Given the description of an element on the screen output the (x, y) to click on. 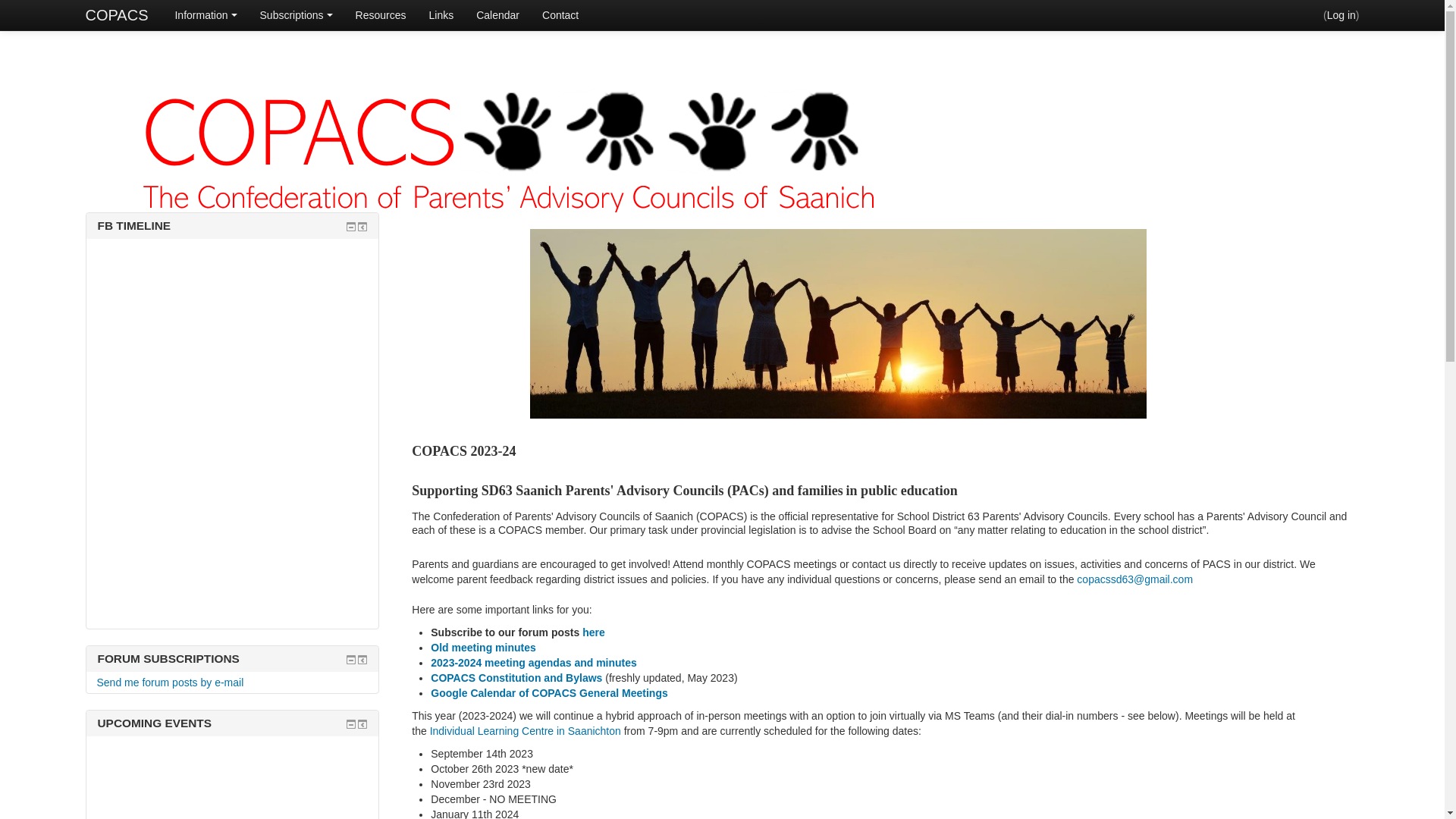
COPACS Element type: text (116, 15)
Old meeting minutes Element type: text (482, 647)
Dock Forum Subscriptions block Element type: hover (362, 659)
Log in Element type: text (1341, 15)
Dock Upcoming Events block Element type: hover (362, 723)
COPACS Constitution and Bylaws Element type: text (516, 677)
2023-2024 meeting agendas and minutes Element type: text (533, 662)
Subscriptions Element type: text (296, 15)
Google Calendar of COPACS General Meetings Element type: text (548, 693)
Individual Learning Centre in Saanichton Element type: text (525, 730)
Hide Upcoming Events block Element type: hover (350, 723)
Information Element type: text (205, 15)
Contact Element type: text (559, 15)
Hide Forum Subscriptions block Element type: hover (350, 659)
copacssd63@gmail.com Element type: text (1134, 579)
Send me forum posts by e-mail Element type: text (170, 682)
Hide FB Timeline block Element type: hover (350, 226)
Calendar Element type: text (497, 15)
here Element type: text (593, 632)
Links Element type: text (440, 15)
Resources Element type: text (380, 15)
Dock FB Timeline block Element type: hover (362, 226)
